Given the description of an element on the screen output the (x, y) to click on. 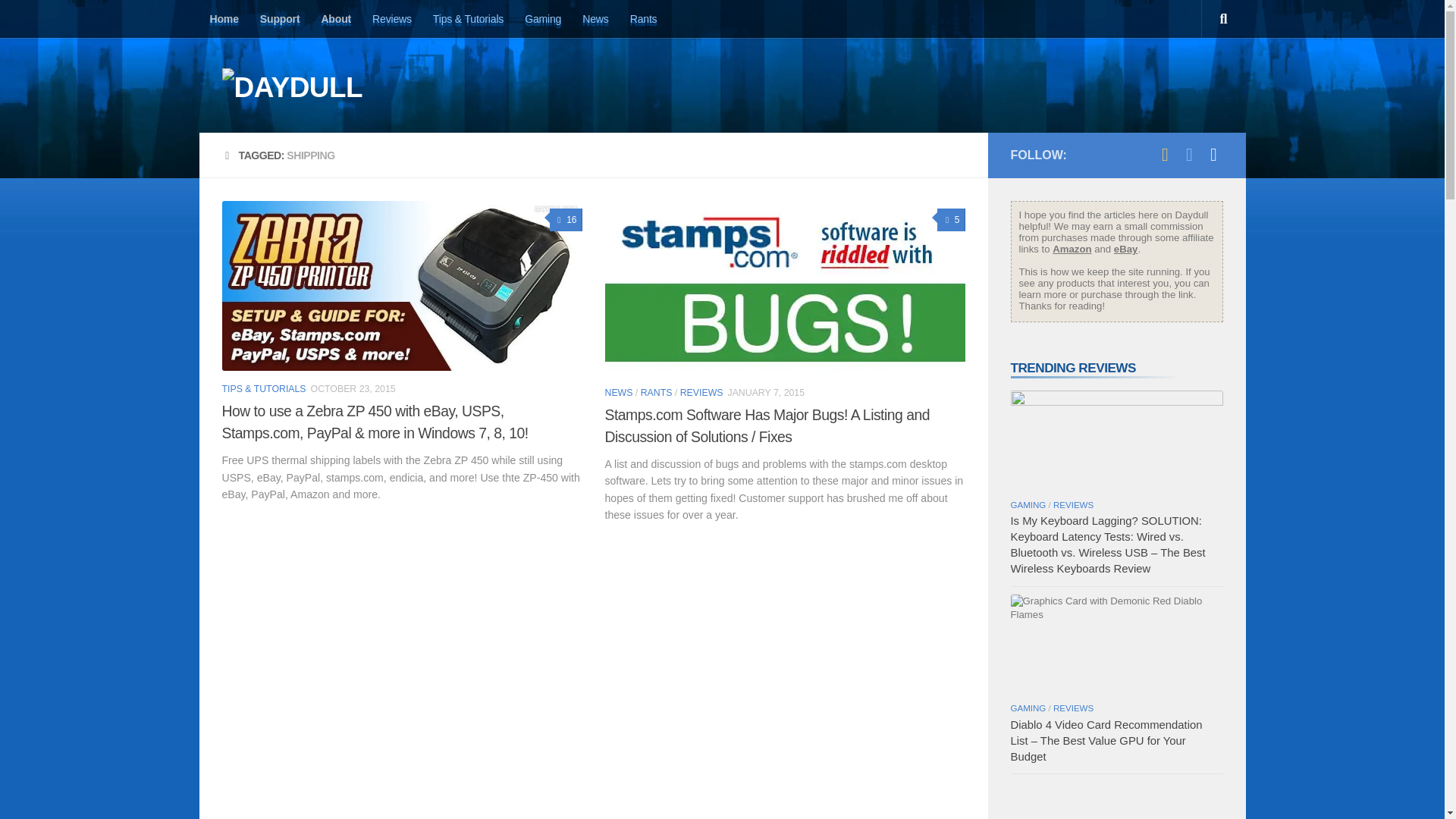
Reviews (391, 18)
Home (223, 18)
REVIEWS (701, 392)
DAYDULL Youtube Channel - Gaming Videos and more! (1213, 154)
Amazon (1071, 248)
REVIEWS (1072, 504)
GAMING (1027, 504)
Shop on Amazon (1164, 154)
About (335, 18)
NEWS (619, 392)
